Given the description of an element on the screen output the (x, y) to click on. 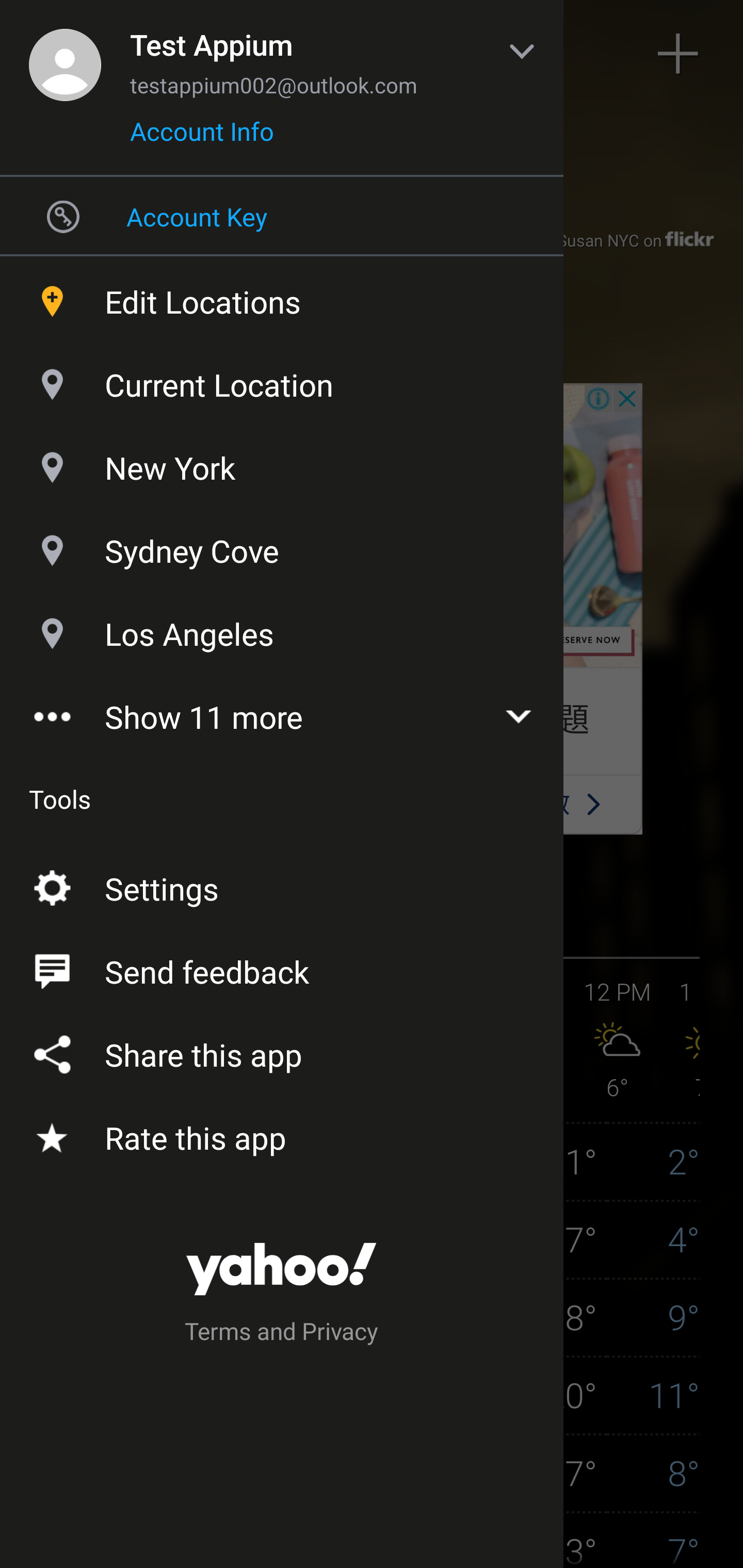
Sidebar (64, 54)
Account Info (202, 137)
Account Key (281, 216)
Edit Locations (281, 296)
Current Location (281, 379)
New York (281, 462)
Sydney Cove (281, 546)
Los Angeles (281, 629)
Settings (281, 884)
Send feedback (281, 967)
Share this app (281, 1050)
Terms and Privacy Terms and privacy button (281, 1334)
